Given the description of an element on the screen output the (x, y) to click on. 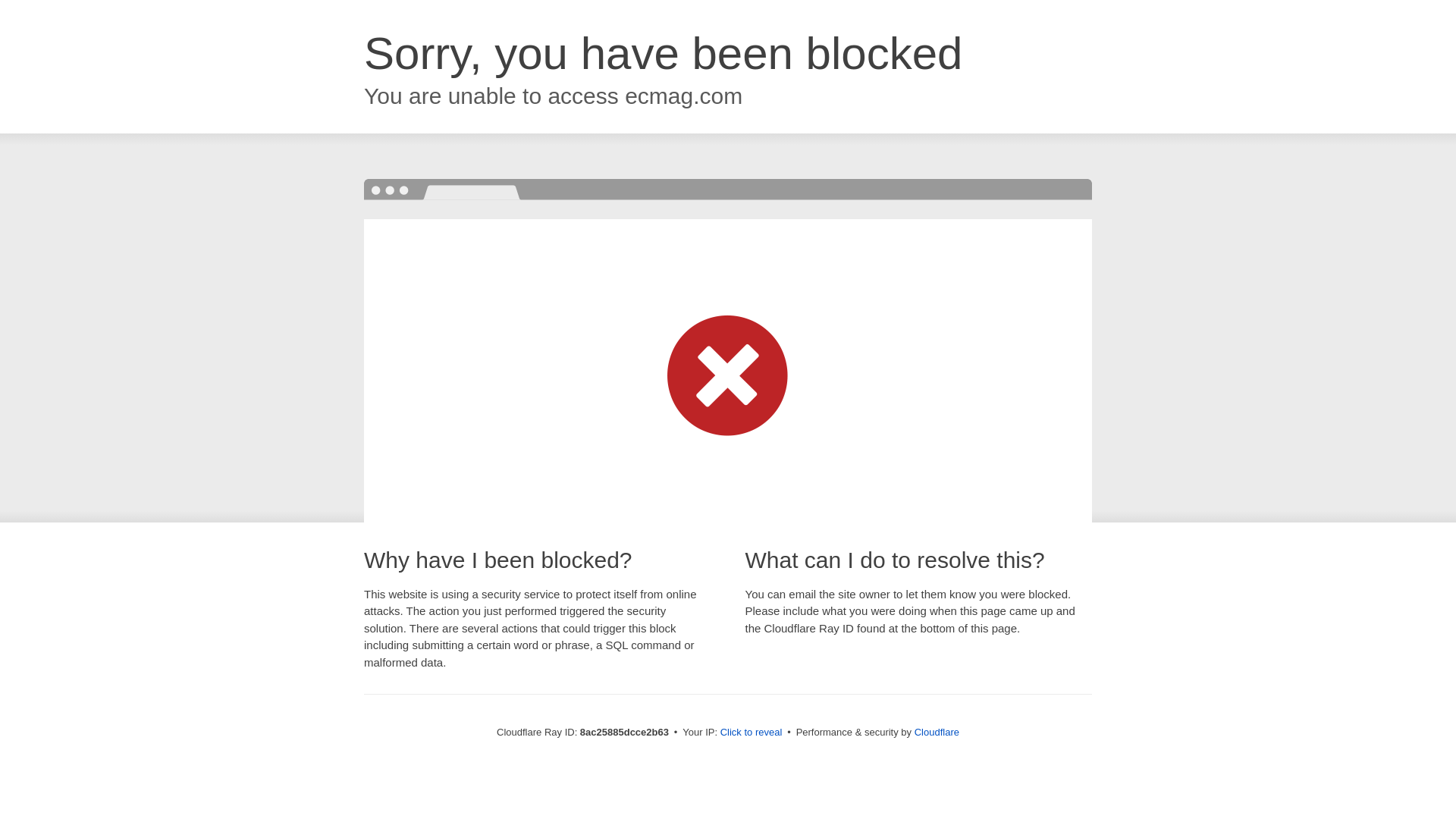
Click to reveal (751, 732)
Cloudflare (936, 731)
